Given the description of an element on the screen output the (x, y) to click on. 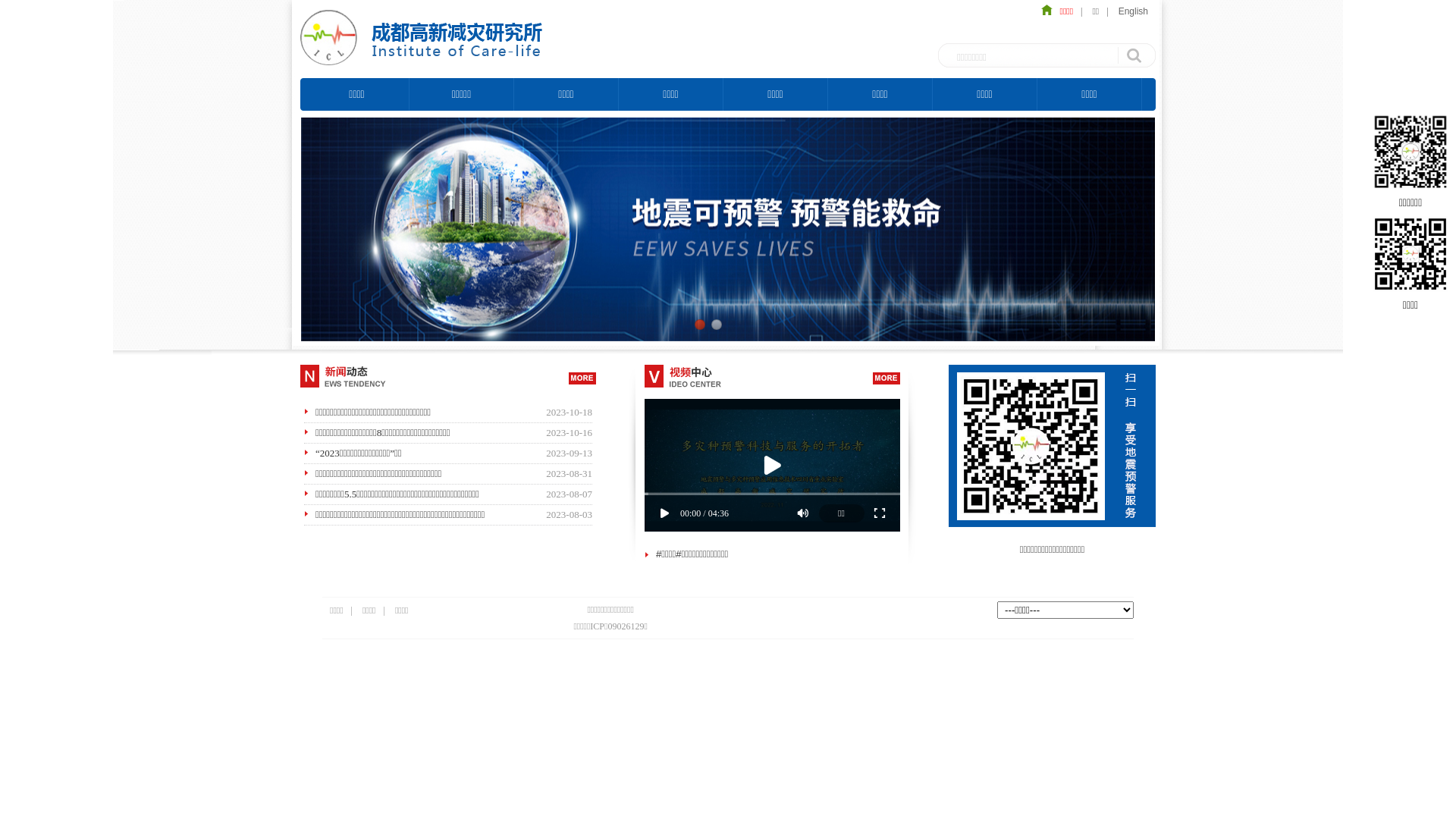
English Element type: text (1132, 11)
